Given the description of an element on the screen output the (x, y) to click on. 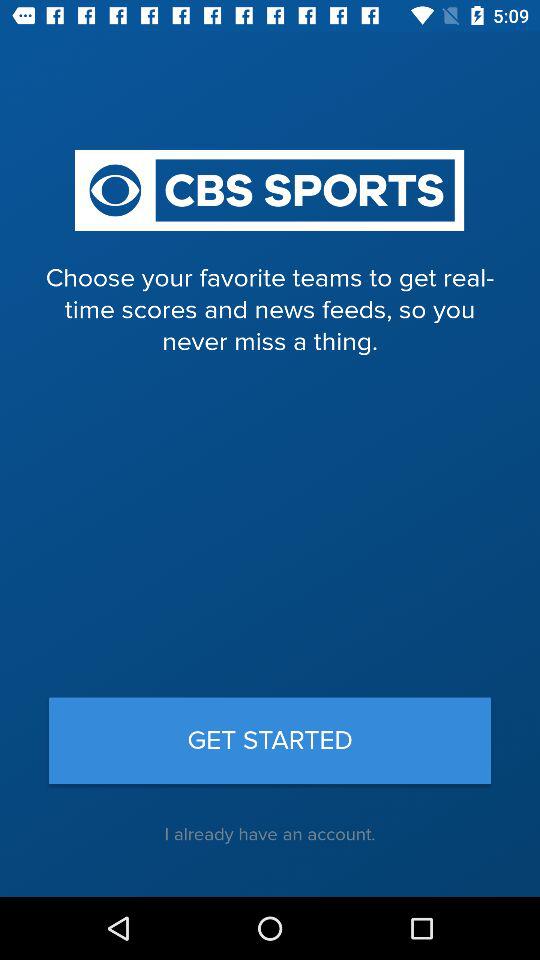
tap item above i already have icon (269, 740)
